Given the description of an element on the screen output the (x, y) to click on. 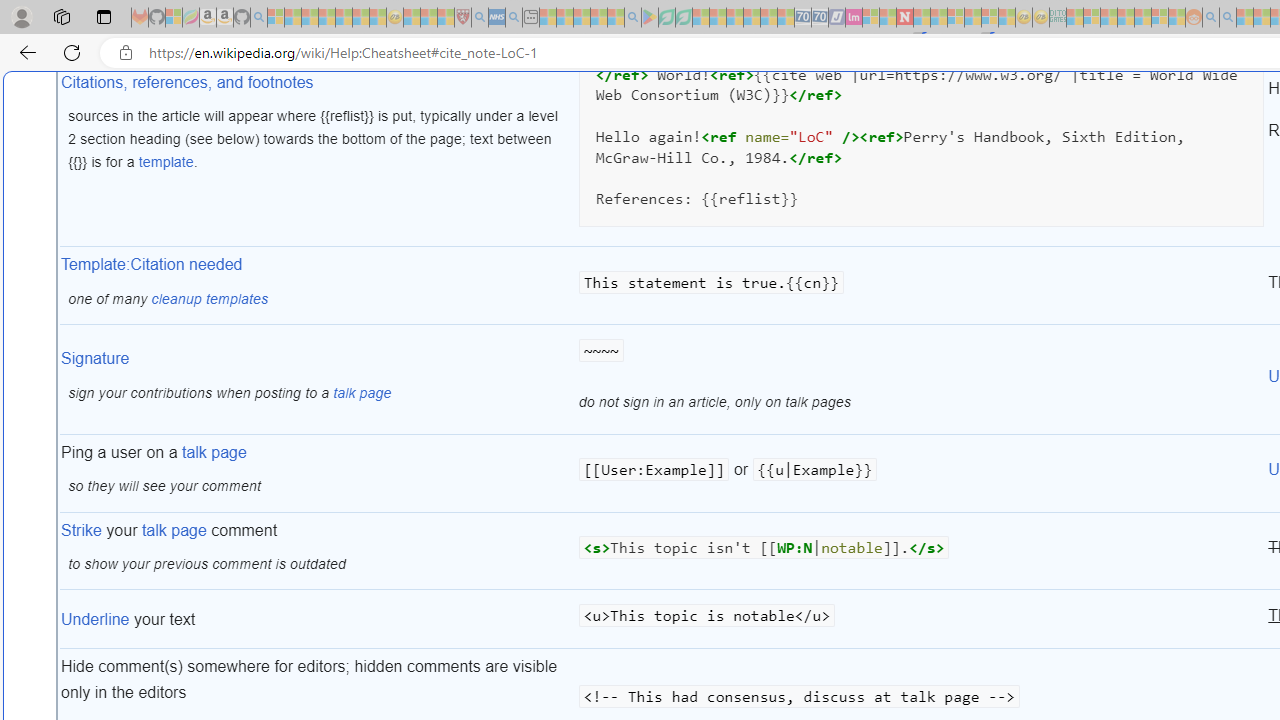
Strike (81, 530)
template (166, 162)
Underline your text (318, 619)
cleanup templates (209, 298)
<u>This topic is notable</u> (921, 619)
